Given the description of an element on the screen output the (x, y) to click on. 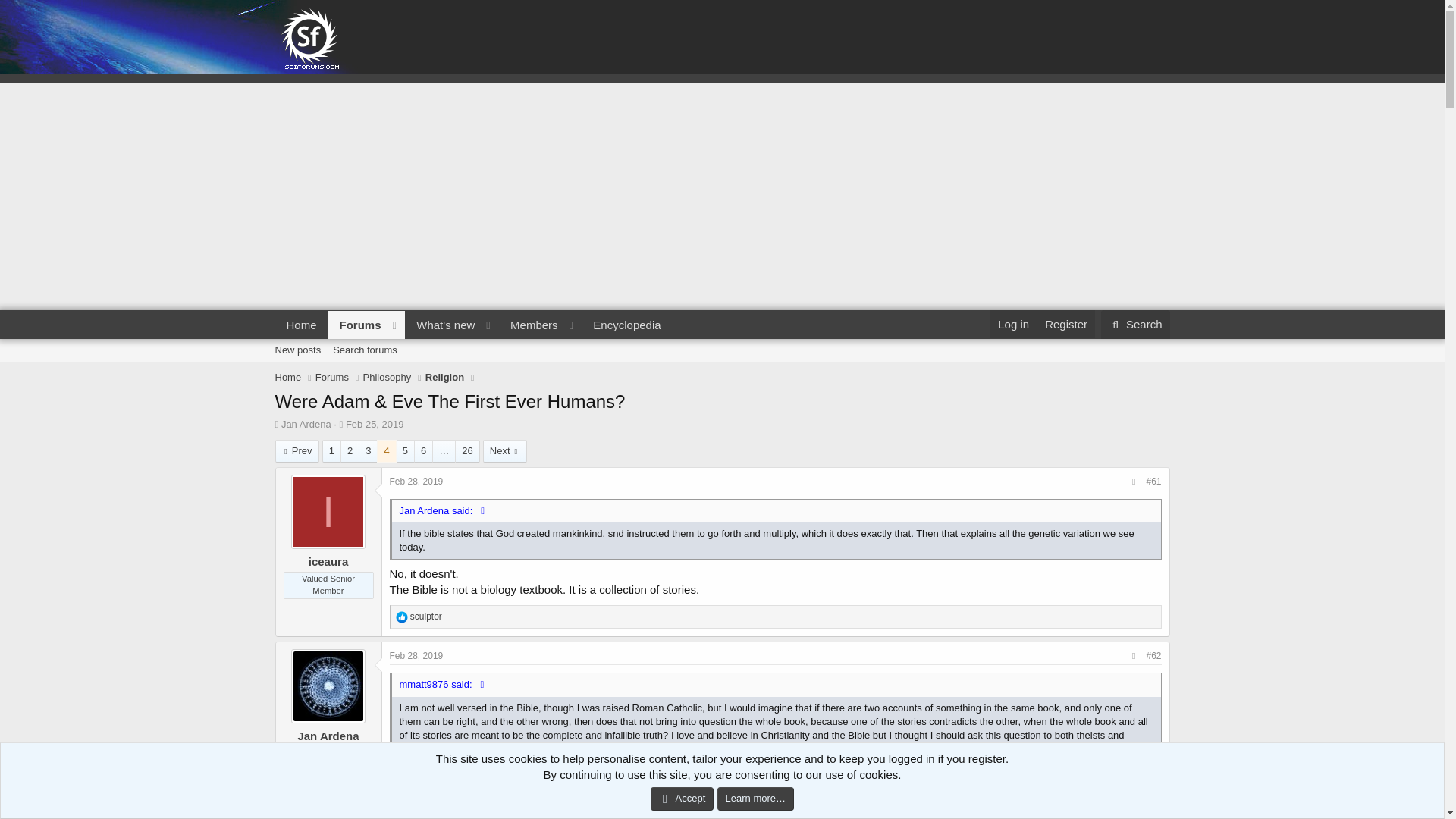
Home (288, 377)
Forums (332, 377)
Home (301, 325)
Search (1135, 324)
Prev (296, 450)
Feb 25, 2019 at 9:23 AM (375, 423)
Religion (472, 325)
Register (444, 377)
Forums (1065, 324)
